Given the description of an element on the screen output the (x, y) to click on. 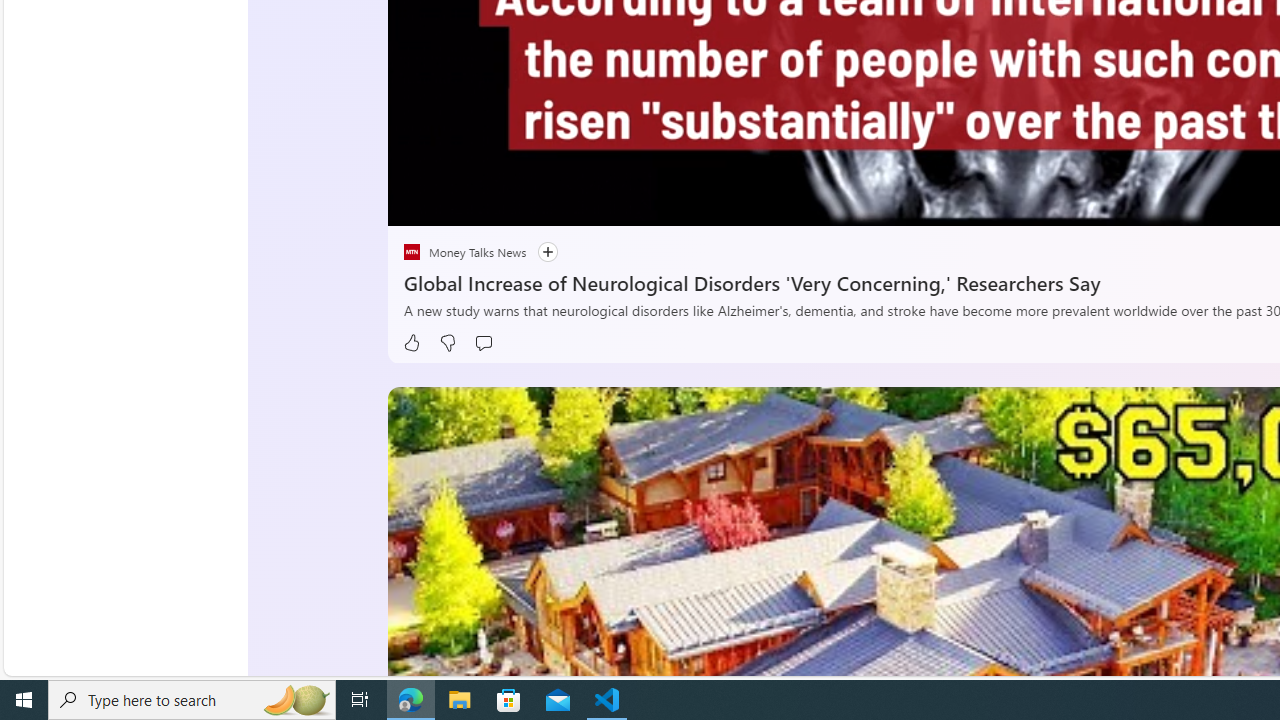
Pause (417, 203)
Seek Forward (497, 203)
Follow (538, 251)
Like (412, 343)
Seek Back (457, 203)
placeholder (411, 252)
